Given the description of an element on the screen output the (x, y) to click on. 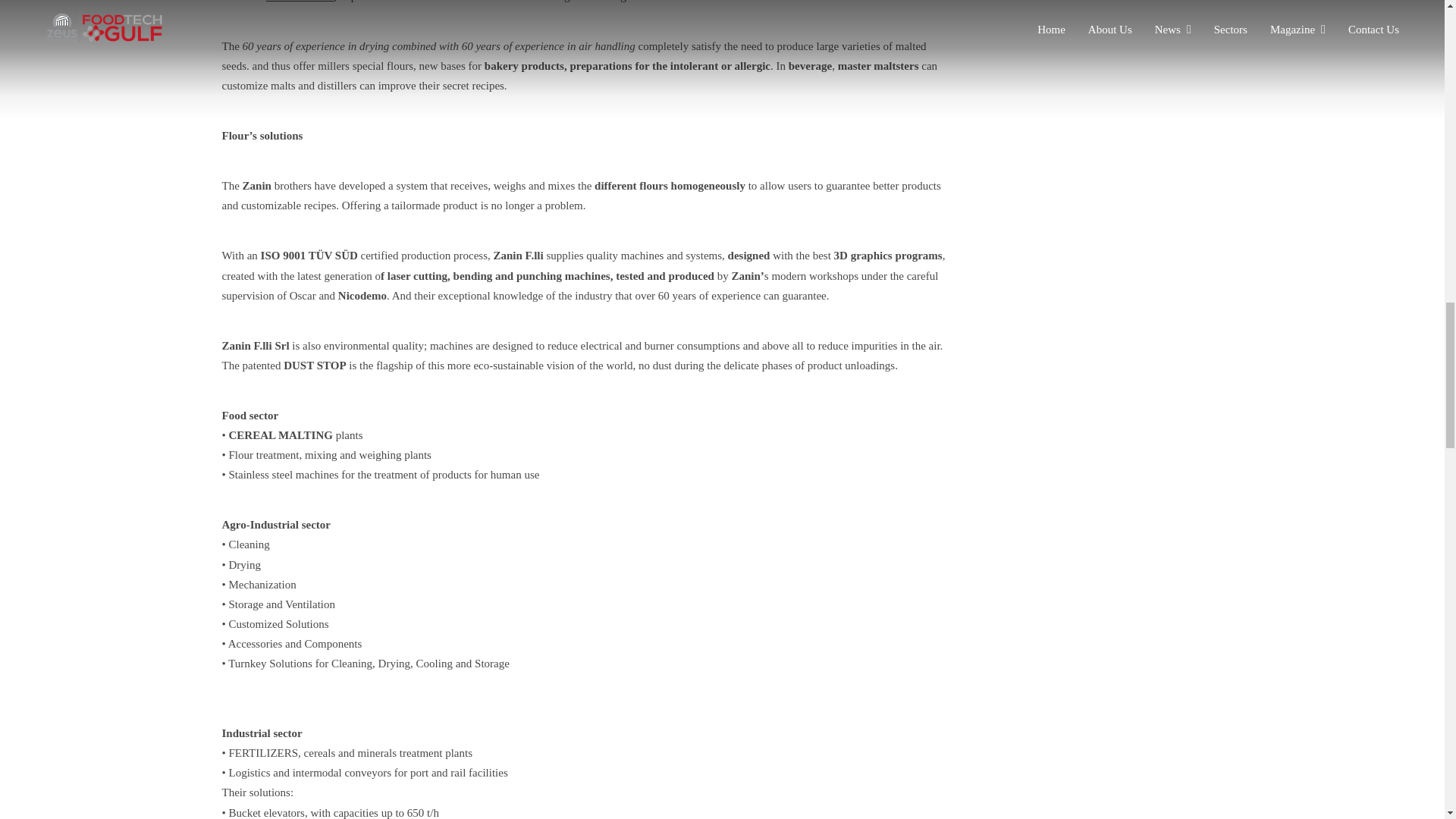
Zanin F.lli Srl (299, 1)
